Given the description of an element on the screen output the (x, y) to click on. 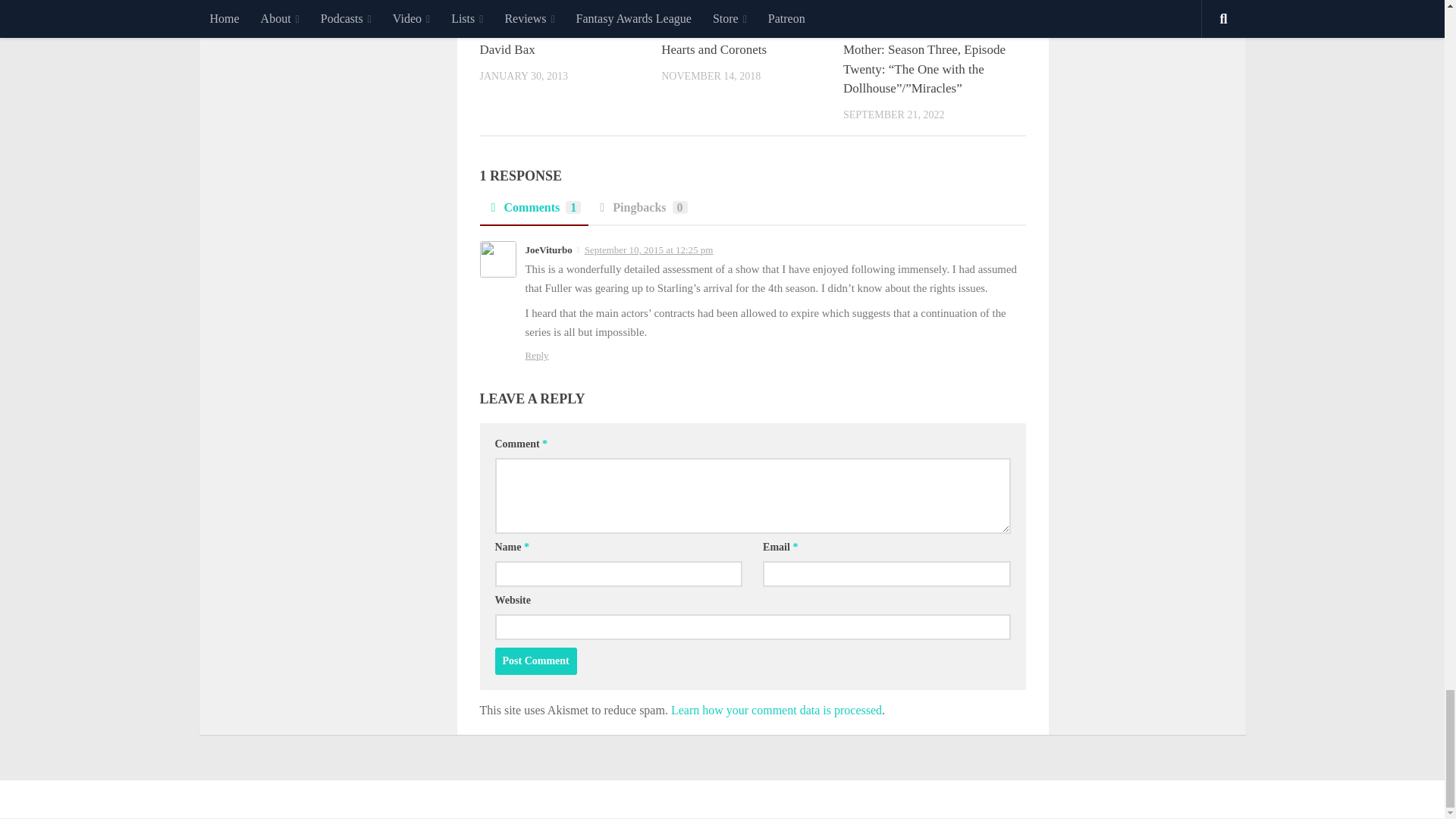
Post Comment (535, 660)
